Given the description of an element on the screen output the (x, y) to click on. 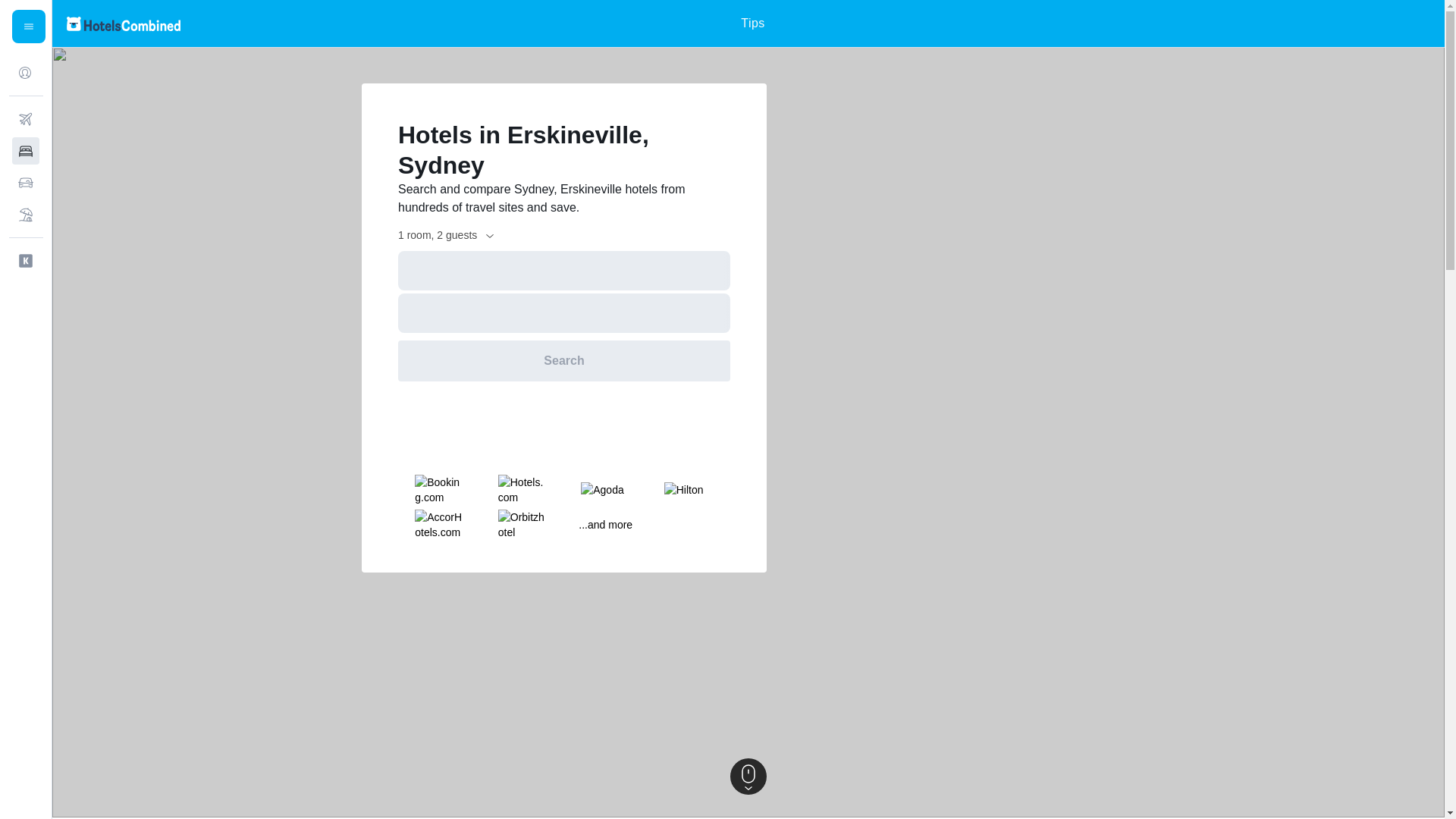
Search (563, 360)
1 room, 2 guests (446, 235)
Search (563, 360)
